Given the description of an element on the screen output the (x, y) to click on. 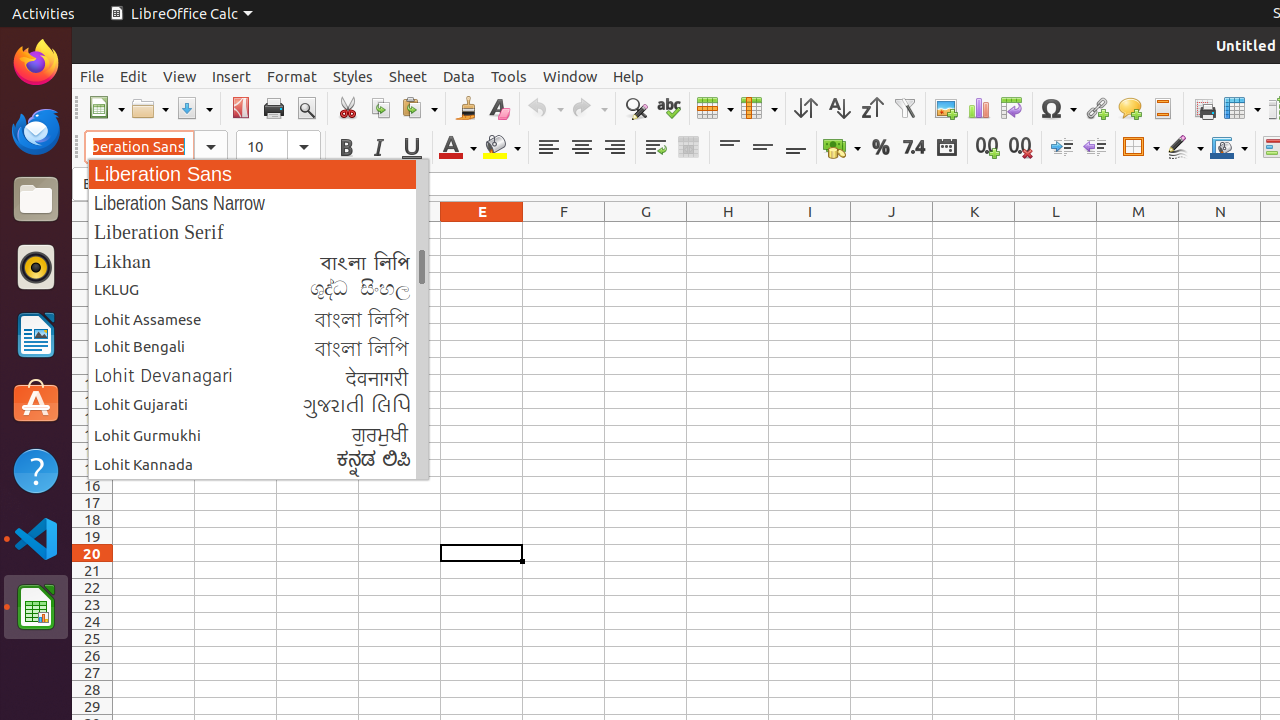
F1 Element type: table-cell (564, 230)
Paste Element type: push-button (419, 108)
Spelling Element type: push-button (668, 108)
Row Element type: push-button (715, 108)
Liberation Sans Element type: list-item (258, 173)
